Given the description of an element on the screen output the (x, y) to click on. 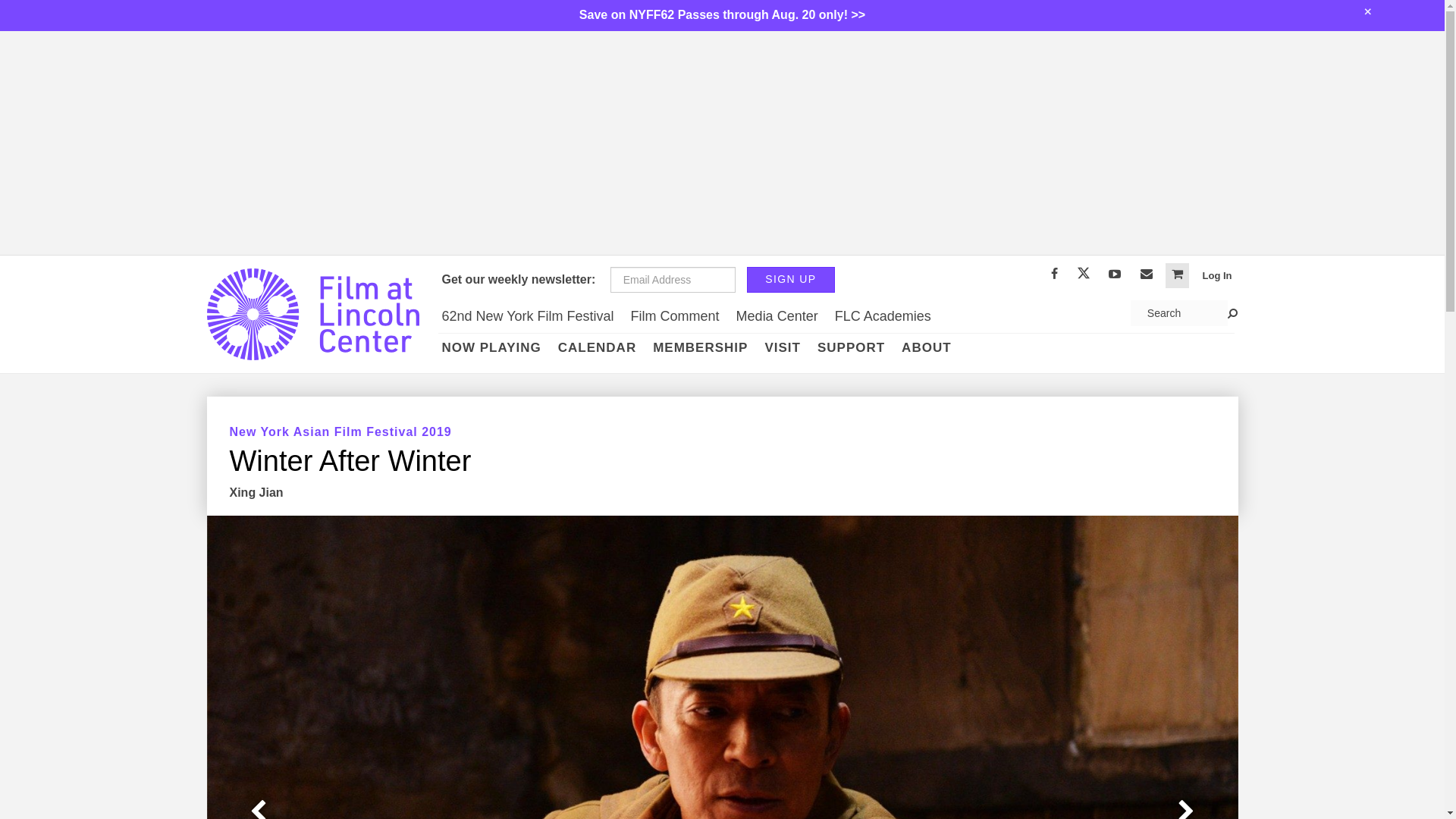
62nd New York Film Festival (529, 316)
NOW PLAYING (491, 347)
Media Center (777, 316)
Film Comment (674, 316)
SIGN UP (790, 279)
FLC Academies (883, 316)
MEMBERSHIP (700, 347)
CALENDAR (597, 347)
Log In (1217, 275)
